Given the description of an element on the screen output the (x, y) to click on. 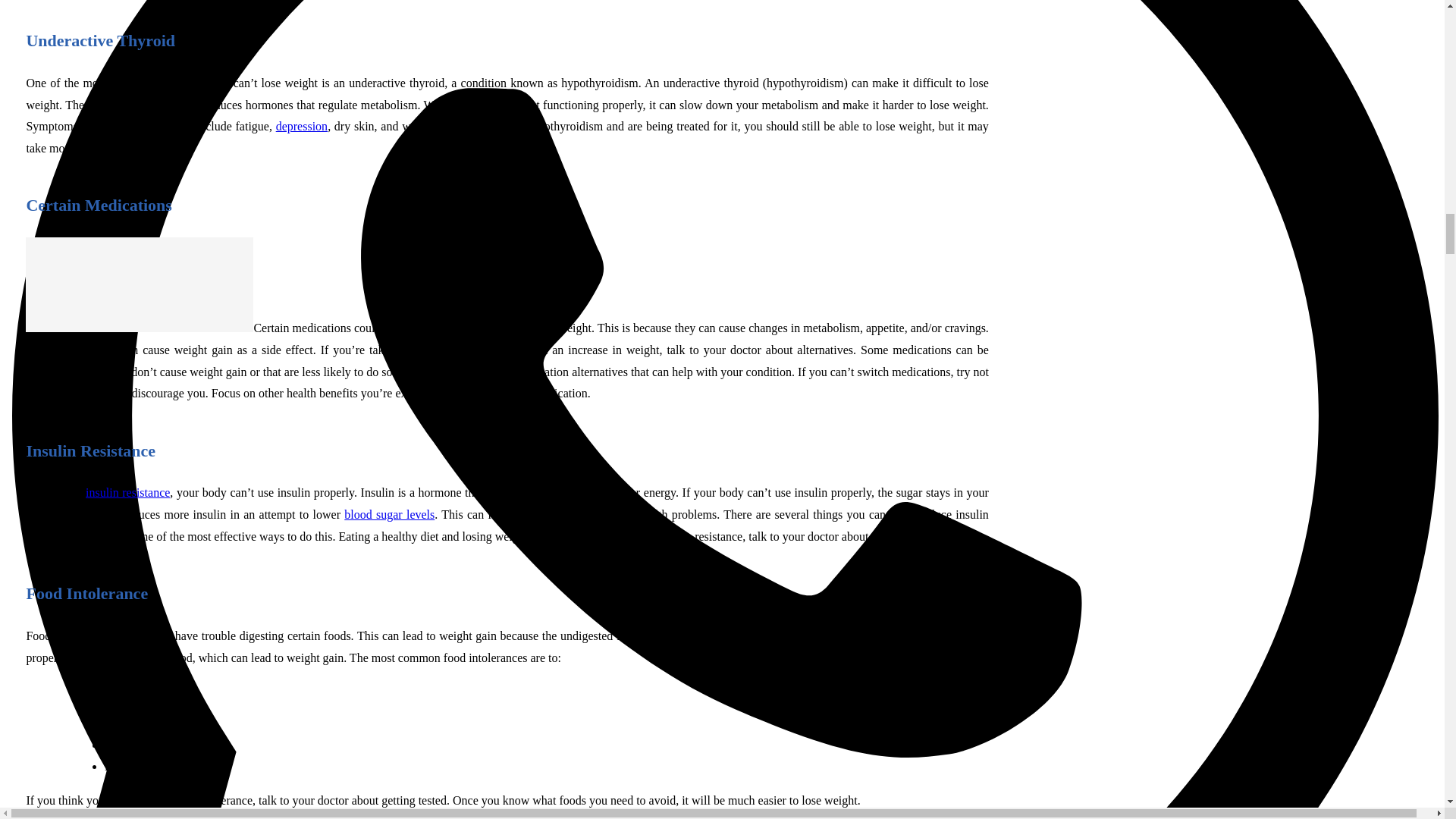
depression (301, 125)
blood sugar levels (388, 513)
insulin resistance (127, 492)
